Given the description of an element on the screen output the (x, y) to click on. 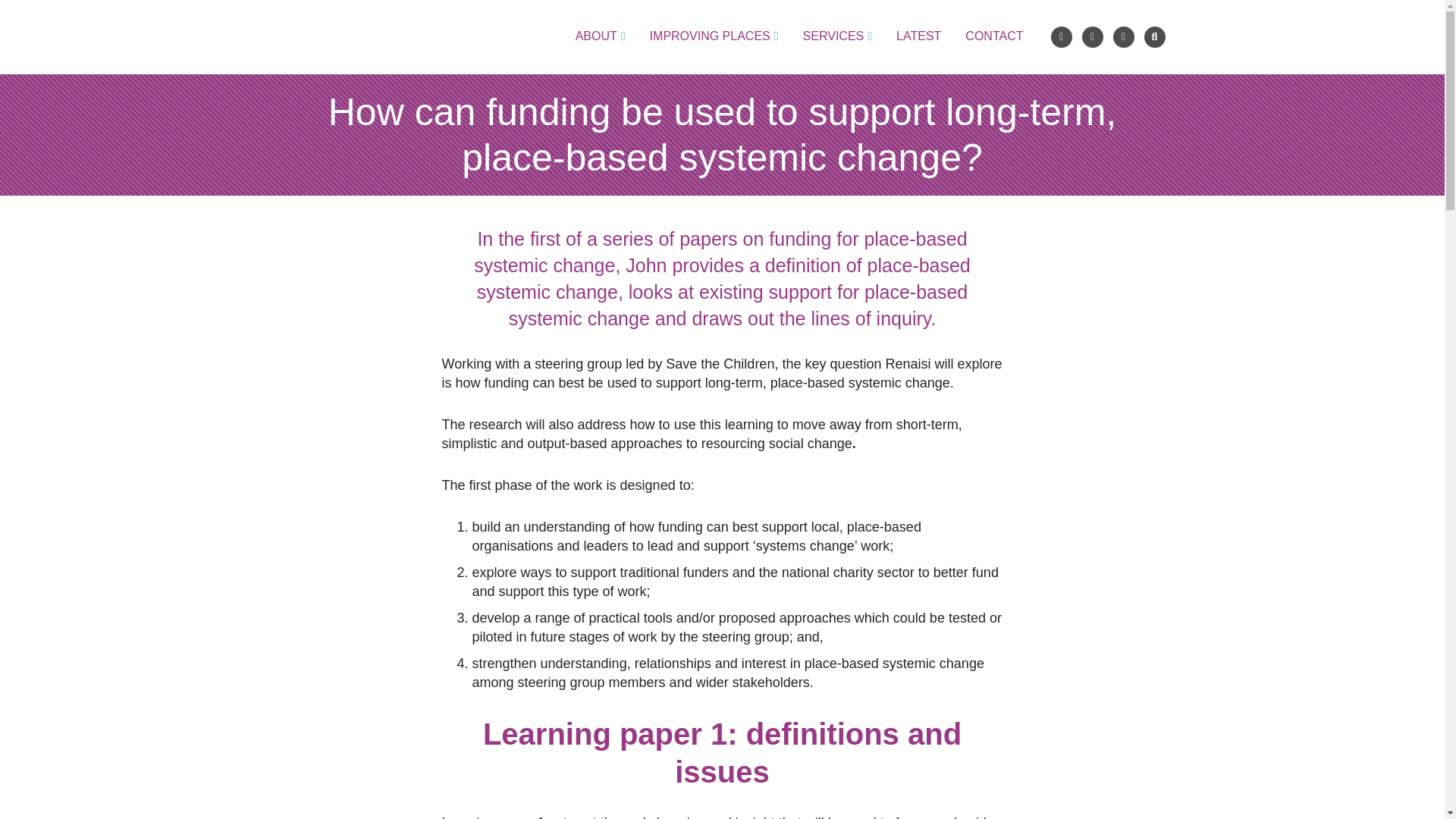
IMPROVING PLACES (713, 35)
SERVICES (837, 35)
LATEST (918, 35)
ABOUT (600, 35)
CONTACT (994, 35)
